Given the description of an element on the screen output the (x, y) to click on. 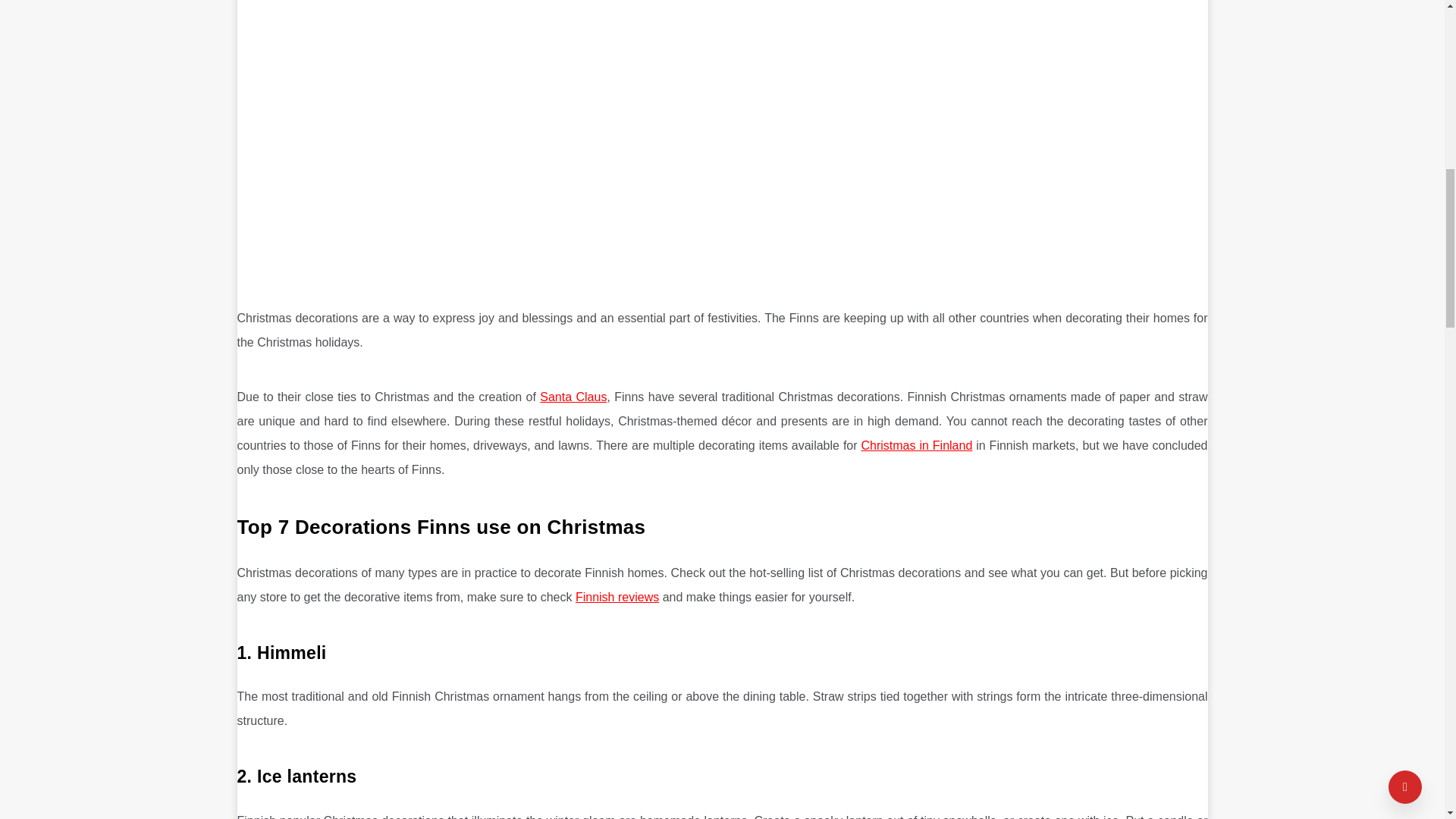
Santa Claus (573, 396)
Christmas in Finland (916, 445)
